Given the description of an element on the screen output the (x, y) to click on. 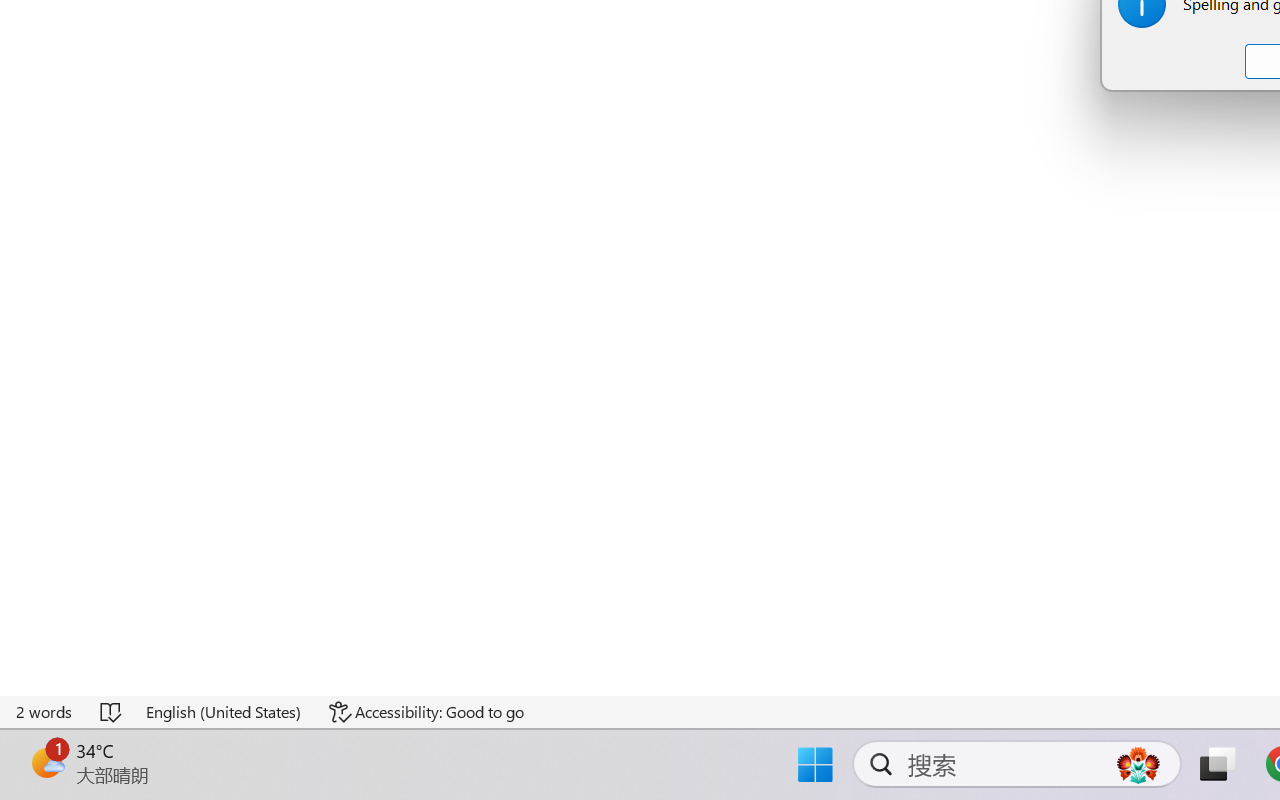
Spelling and Grammar Check No Errors (112, 712)
AutomationID: BadgeAnchorLargeTicker (46, 762)
Accessibility Checker Accessibility: Good to go (426, 712)
AutomationID: DynamicSearchBoxGleamImage (1138, 764)
Language English (United States) (224, 712)
Word Count 2 words (45, 712)
